Given the description of an element on the screen output the (x, y) to click on. 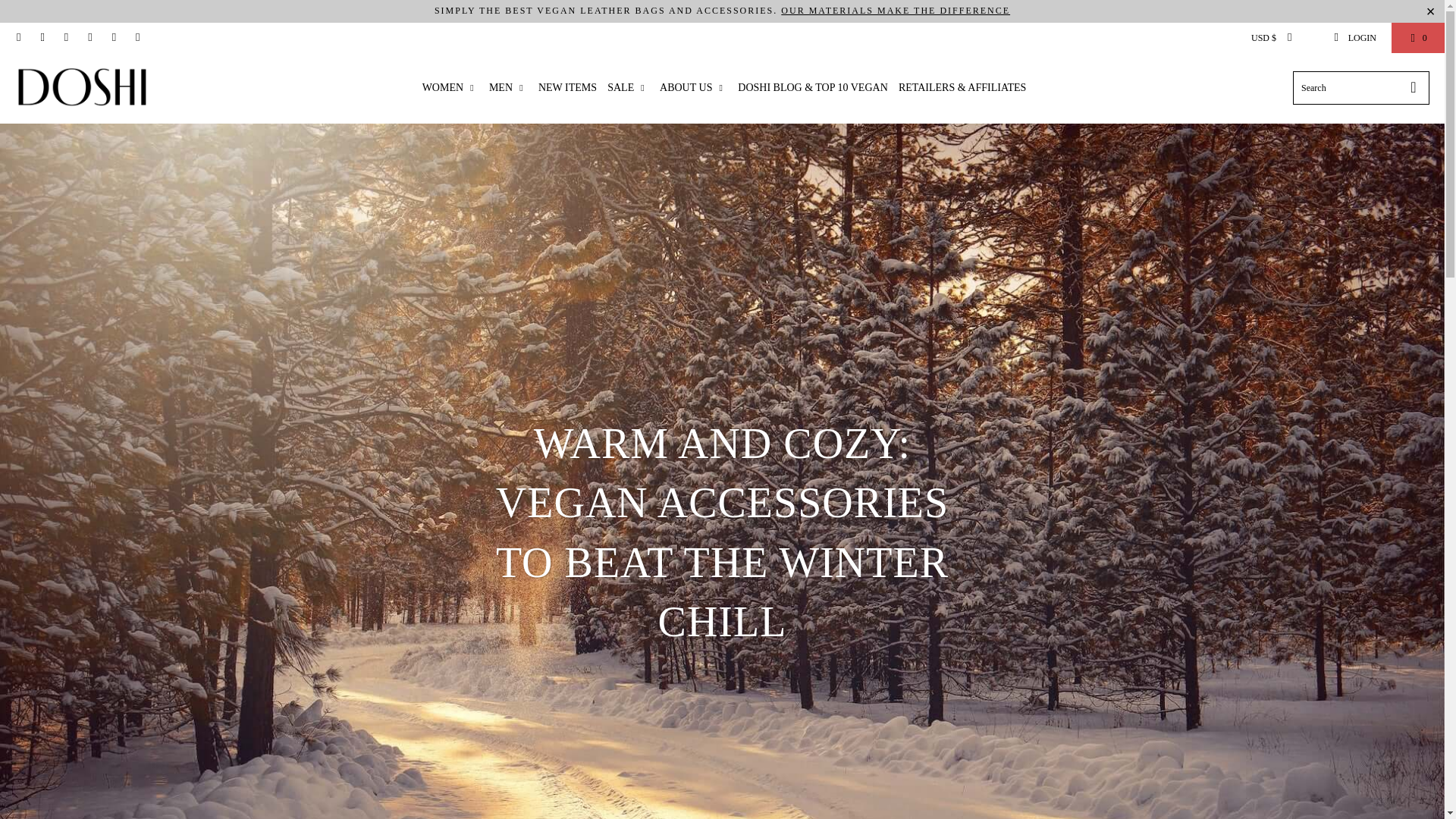
Doshi FCSA (84, 88)
My Account  (1353, 37)
Doshi FCSA on Twitter (17, 37)
Doshi FCSA on Tumblr (89, 37)
Doshi FCSA on Pinterest (65, 37)
Doshi FCSA on Instagram (112, 37)
Doshi FCSA on Facebook (41, 37)
Email Doshi FCSA (136, 37)
